Given the description of an element on the screen output the (x, y) to click on. 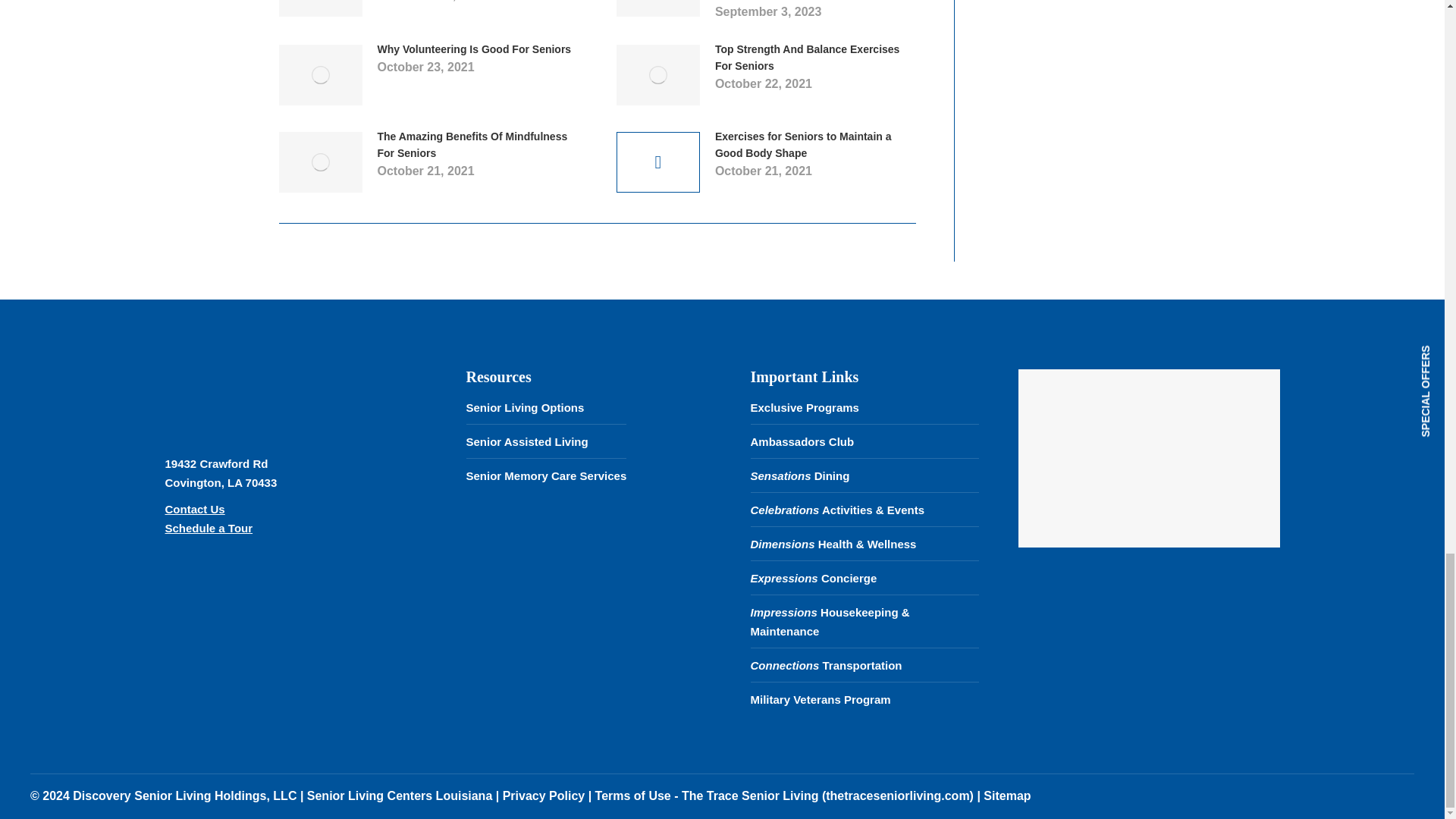
The Trace WHITE (248, 398)
Equal-Housing-Opportunity-logo22-150x144-1 (295, 598)
Equal-Housing-Opportunity-logo222 (201, 598)
